Given the description of an element on the screen output the (x, y) to click on. 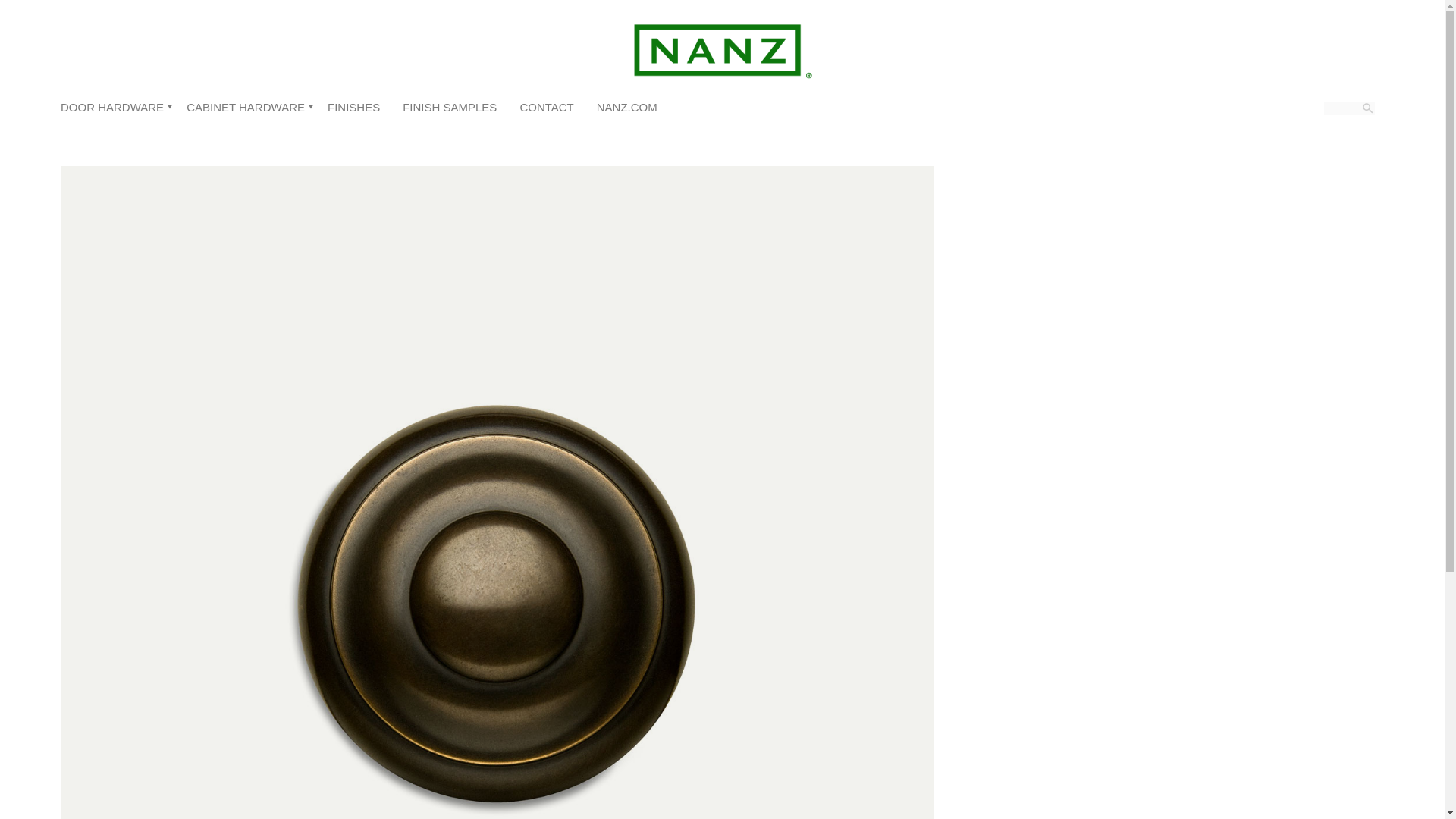
CABINET HARDWARE (245, 106)
CONTACT (546, 106)
FINISH SAMPLES (449, 106)
DOOR HARDWARE (112, 106)
NANZ.COM (627, 106)
Search (30, 3)
FINISHES (353, 106)
